Given the description of an element on the screen output the (x, y) to click on. 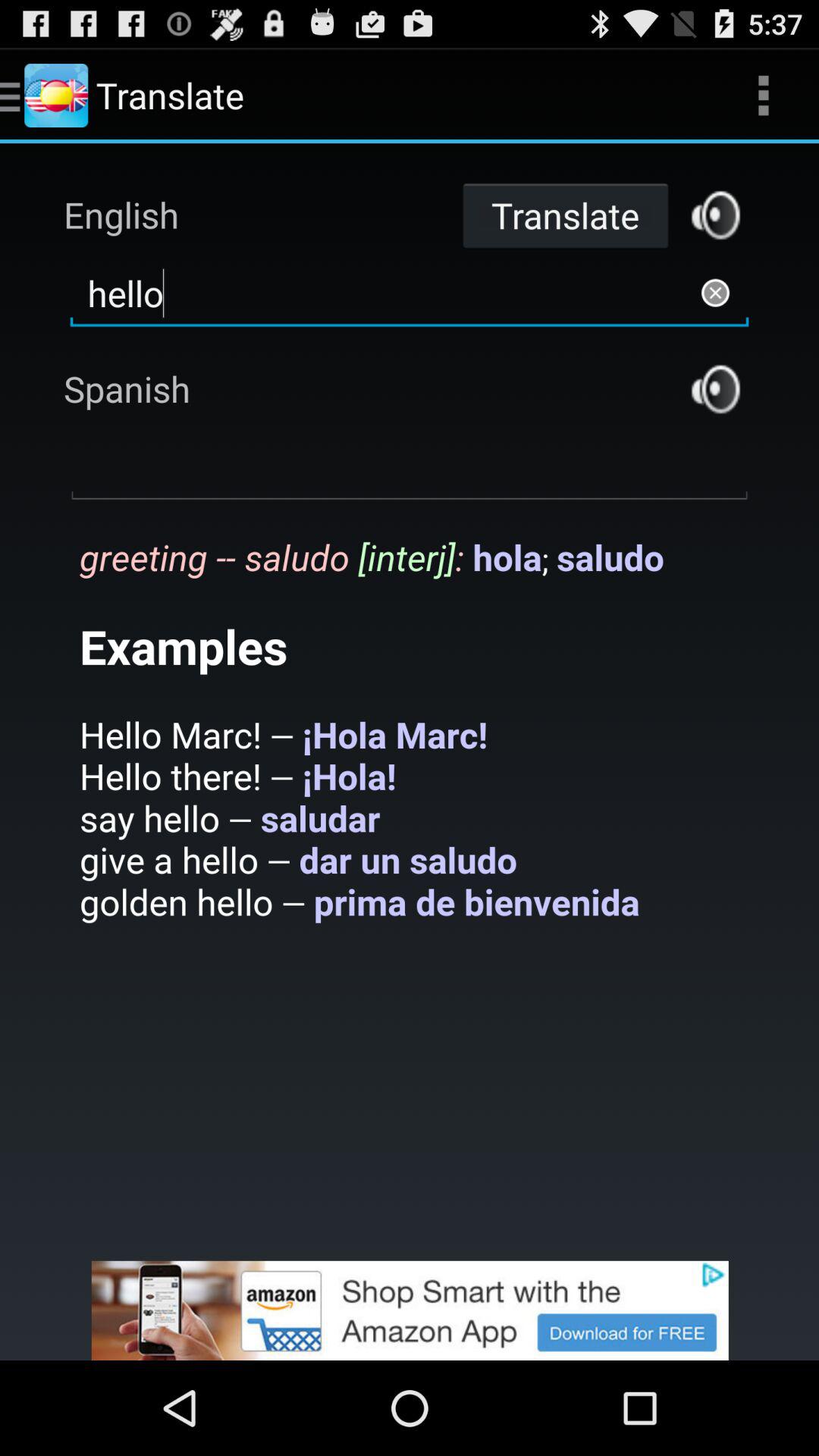
enter spanish text (409, 467)
